Given the description of an element on the screen output the (x, y) to click on. 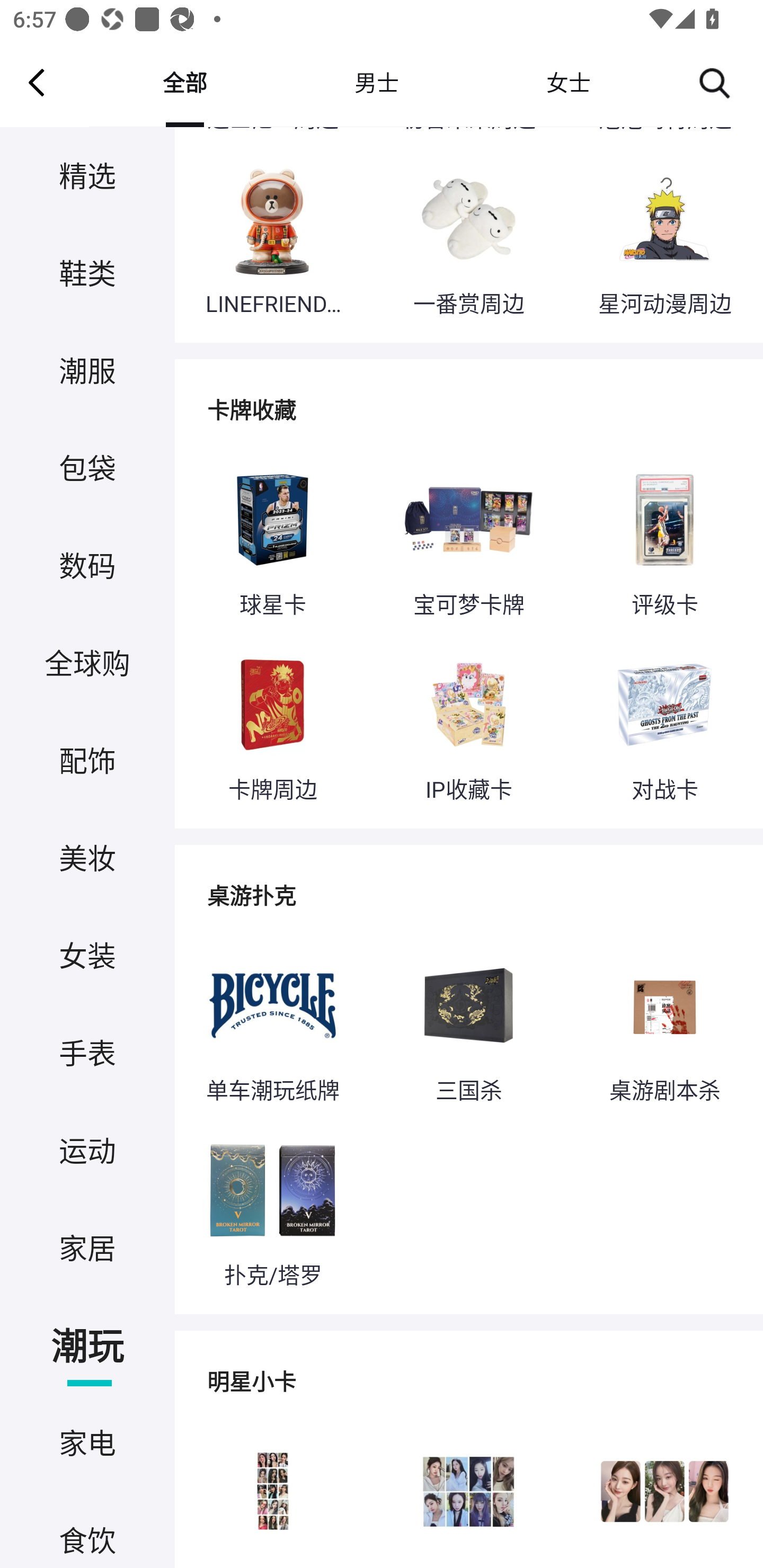
Navigate up (36, 82)
全部 (184, 82)
男士 (376, 82)
女士 (568, 82)
LINEFRIENDS周边 (272, 239)
一番赏周边 (468, 239)
星河动漫周边 (664, 239)
球星卡 (272, 540)
宝可梦卡牌 (468, 540)
评级卡 (664, 540)
卡牌周边 (272, 725)
IP收藏卡 (468, 725)
对战卡 (664, 725)
单车潮玩纸牌 (272, 1026)
三国杀 (468, 1026)
桌游剧本杀 (664, 1026)
扑克/塔罗 (272, 1211)
CUBE (272, 1494)
SM (468, 1494)
STARSHIP (664, 1494)
